Given the description of an element on the screen output the (x, y) to click on. 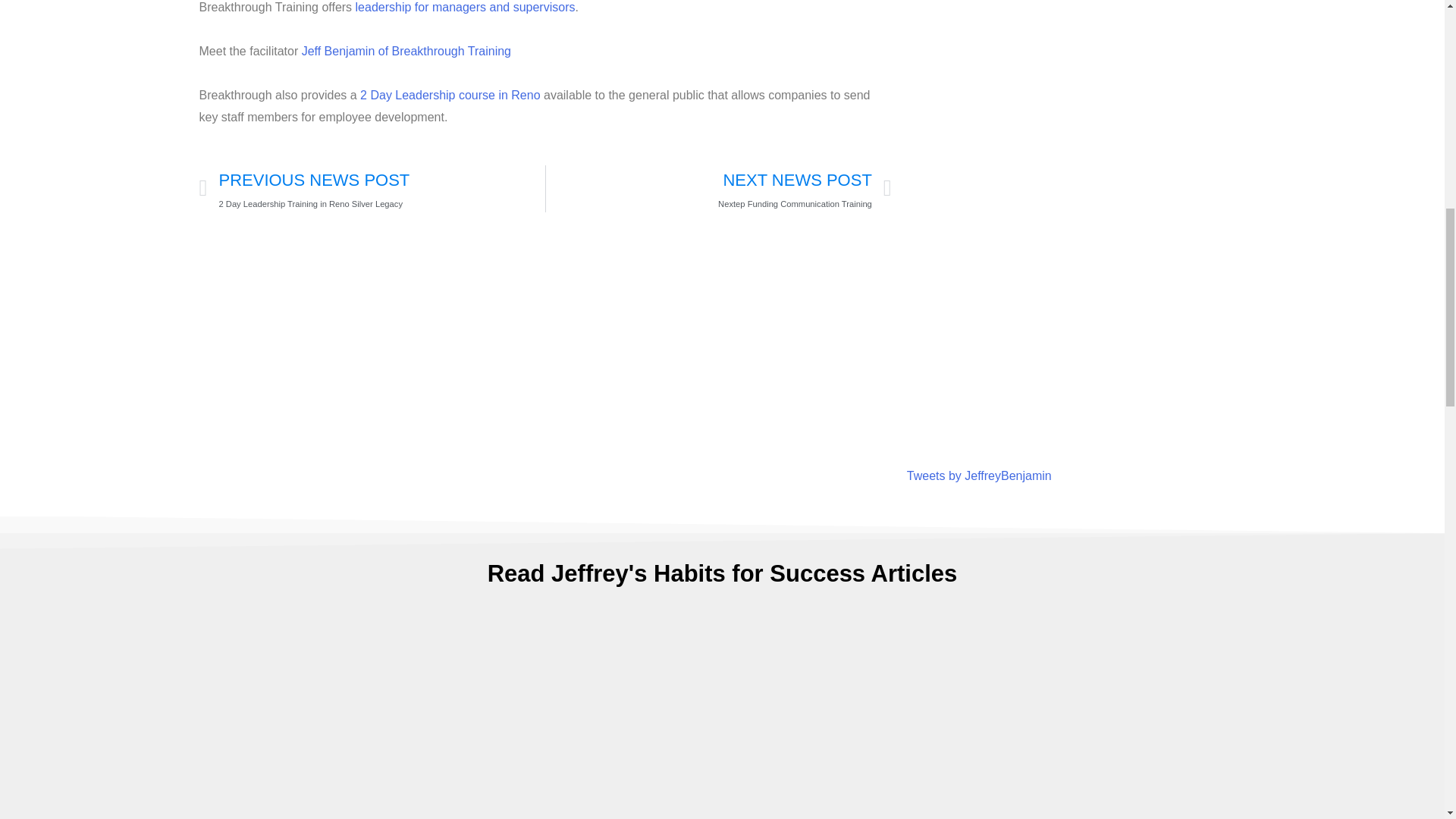
Jeff Benjamin Motivational Speaker (406, 51)
